Given the description of an element on the screen output the (x, y) to click on. 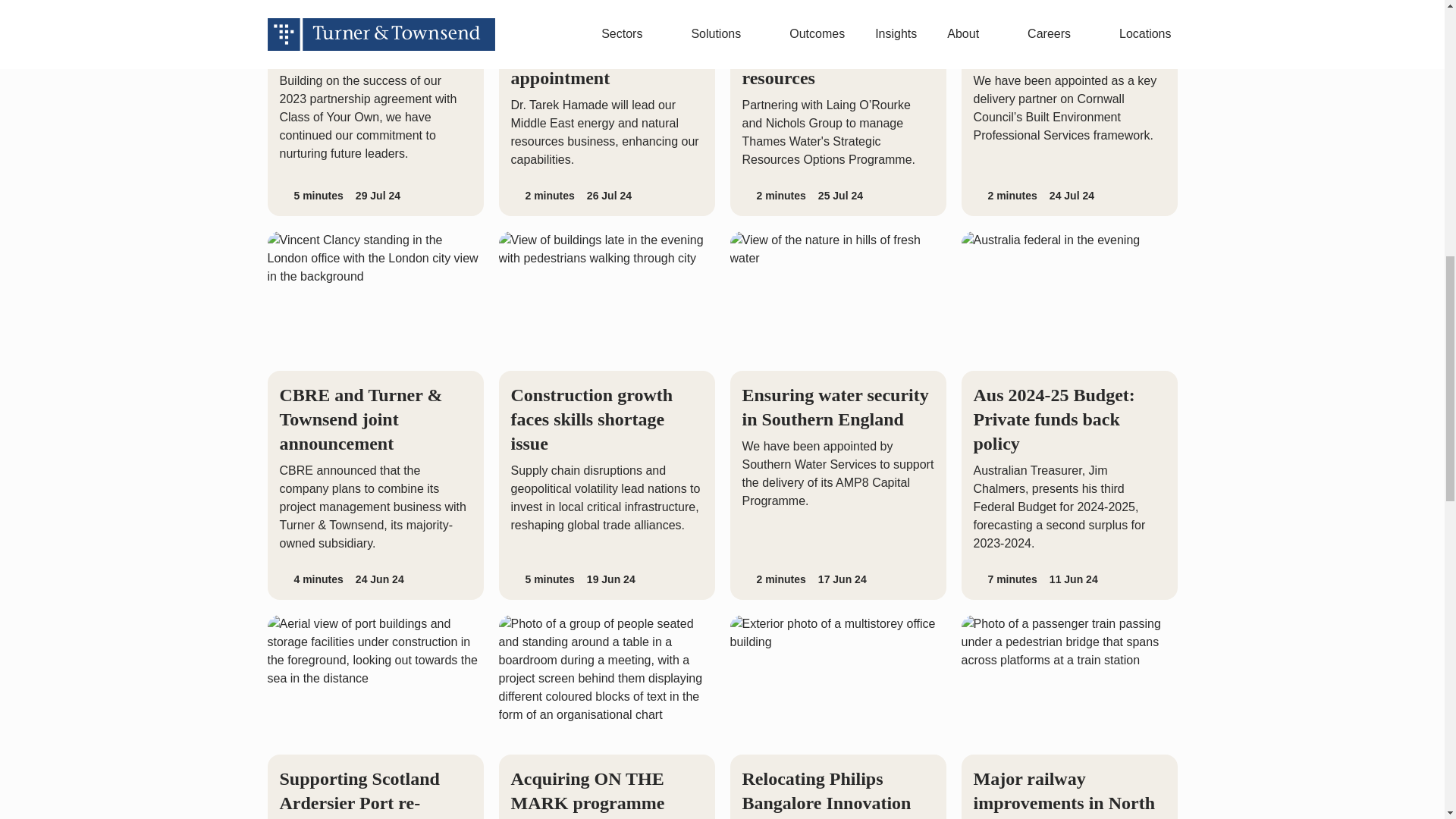
Supporting Thames Water to protect water resources (836, 108)
Championing Middle East talent and diversity (374, 108)
Enhancing vital projects across Cornwall  (1068, 108)
